Given the description of an element on the screen output the (x, y) to click on. 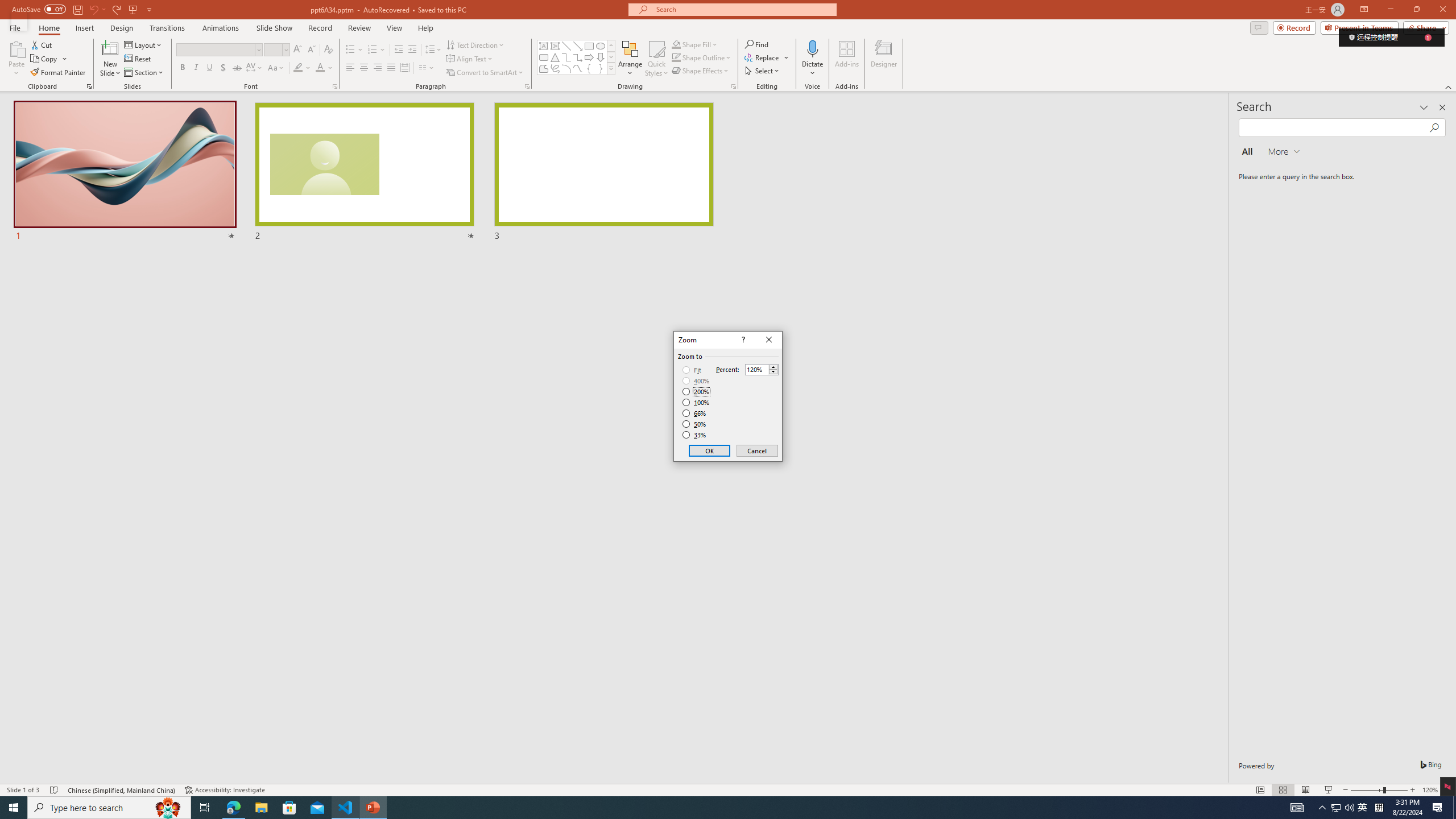
Align Text (470, 58)
Shape Fill (675, 44)
Q2790: 100% (1349, 807)
Rectangle: Rounded Corners (543, 57)
Layout (143, 44)
Paragraph... (526, 85)
Line Arrow (577, 45)
